Given the description of an element on the screen output the (x, y) to click on. 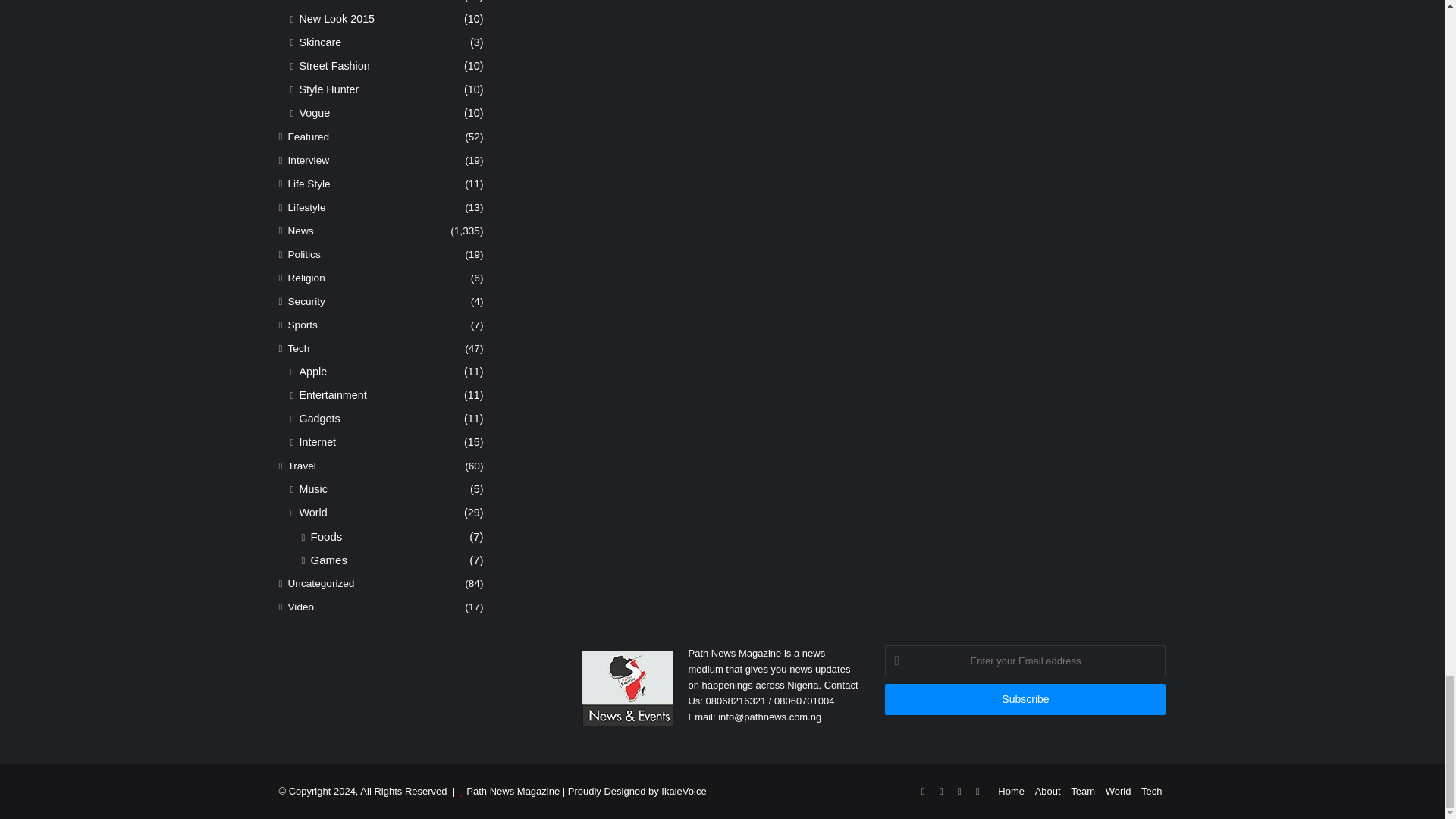
Subscribe (1025, 698)
